Given the description of an element on the screen output the (x, y) to click on. 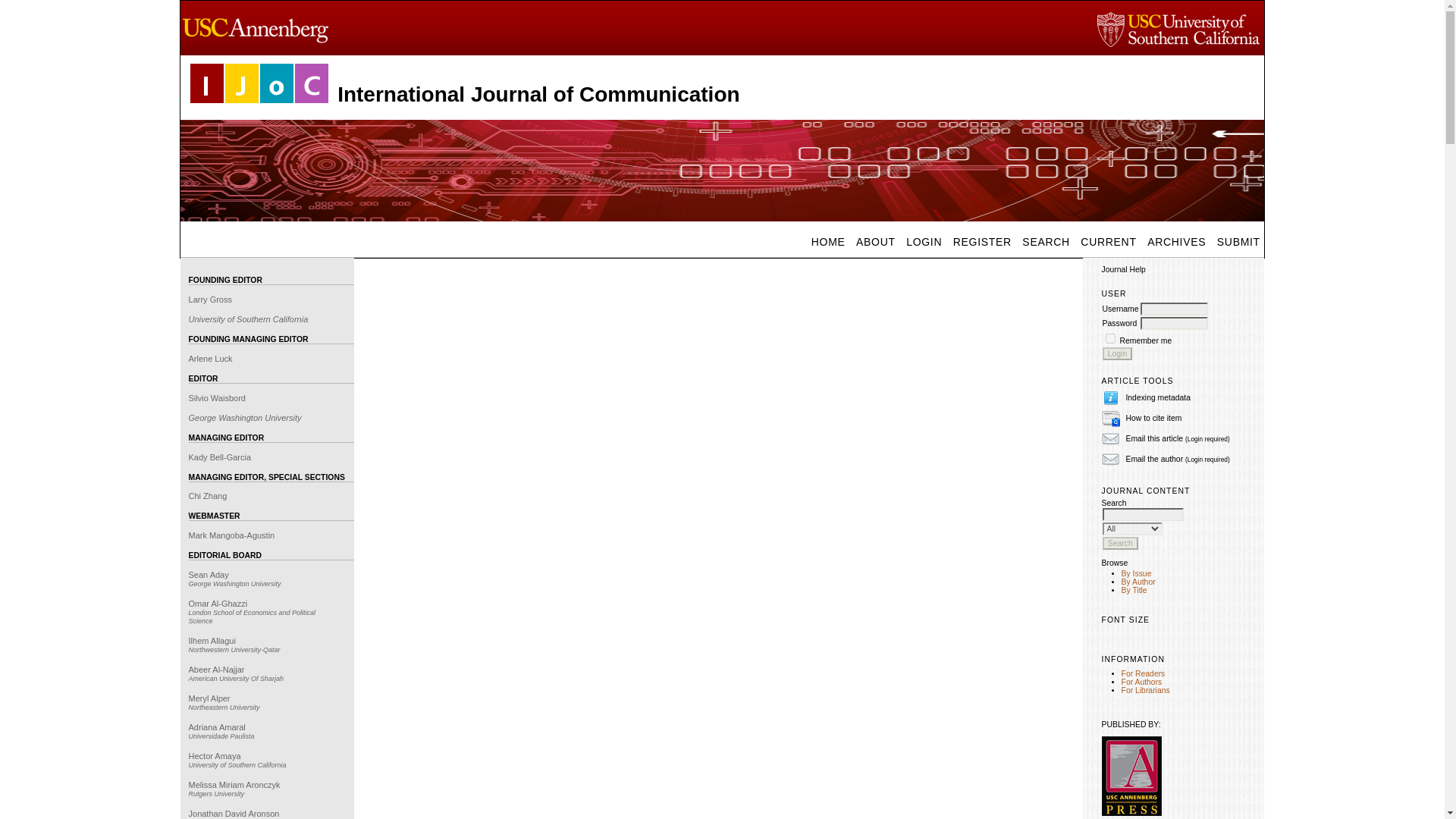
For Authors (1141, 682)
Search (1120, 543)
Journal Help (1123, 269)
By Title (1134, 590)
How to cite item (1152, 418)
SEARCH (1045, 242)
LOGIN (923, 242)
Login (1117, 353)
Login (1117, 353)
By Issue (1136, 573)
HOME (828, 242)
Indexing metadata (1158, 397)
SUBMIT (1237, 242)
REGISTER (981, 242)
ABOUT (875, 242)
